Given the description of an element on the screen output the (x, y) to click on. 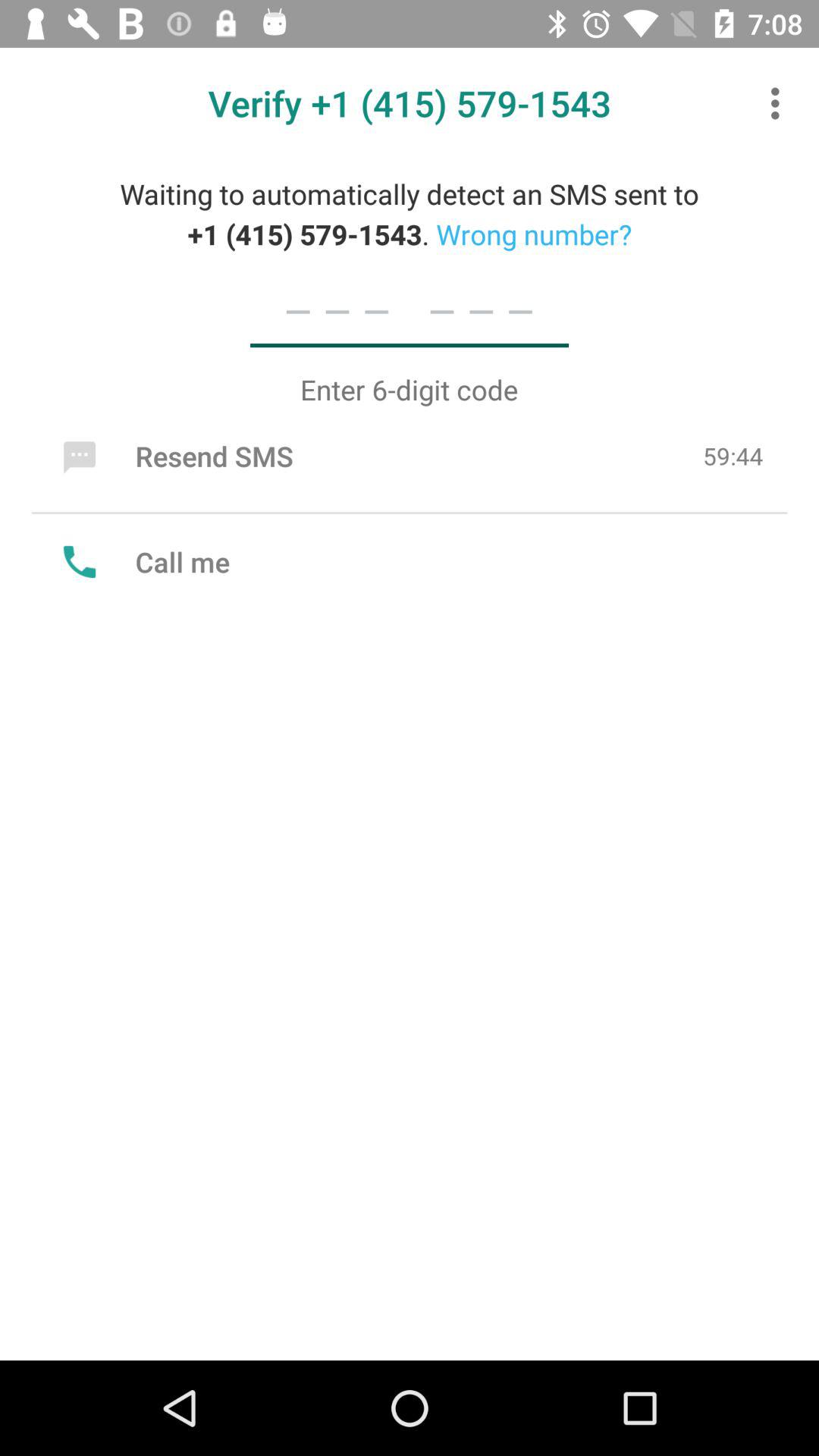
select item below waiting to automatically (409, 309)
